Given the description of an element on the screen output the (x, y) to click on. 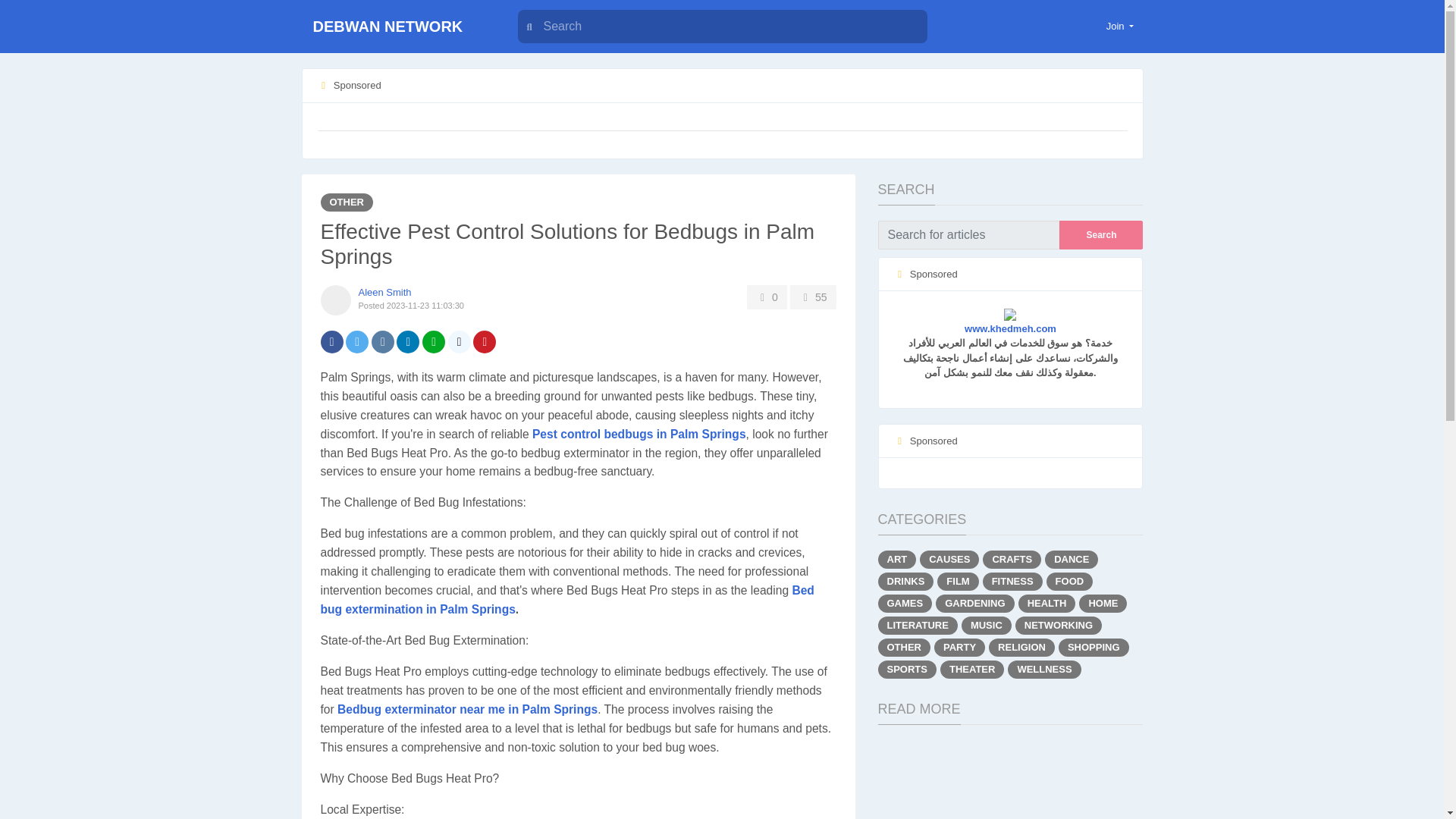
Bedbug exterminator near me in Palm Springs (466, 708)
Aleen Smith (384, 292)
Search (1100, 234)
Bed bug extermination in Palm Springs (566, 599)
Join (1119, 26)
CAUSES (949, 559)
OTHER (346, 201)
Pest control bedbugs in Palm Springs (638, 433)
DEBWAN NETWORK (396, 26)
www.khedmeh.com (1010, 320)
